Given the description of an element on the screen output the (x, y) to click on. 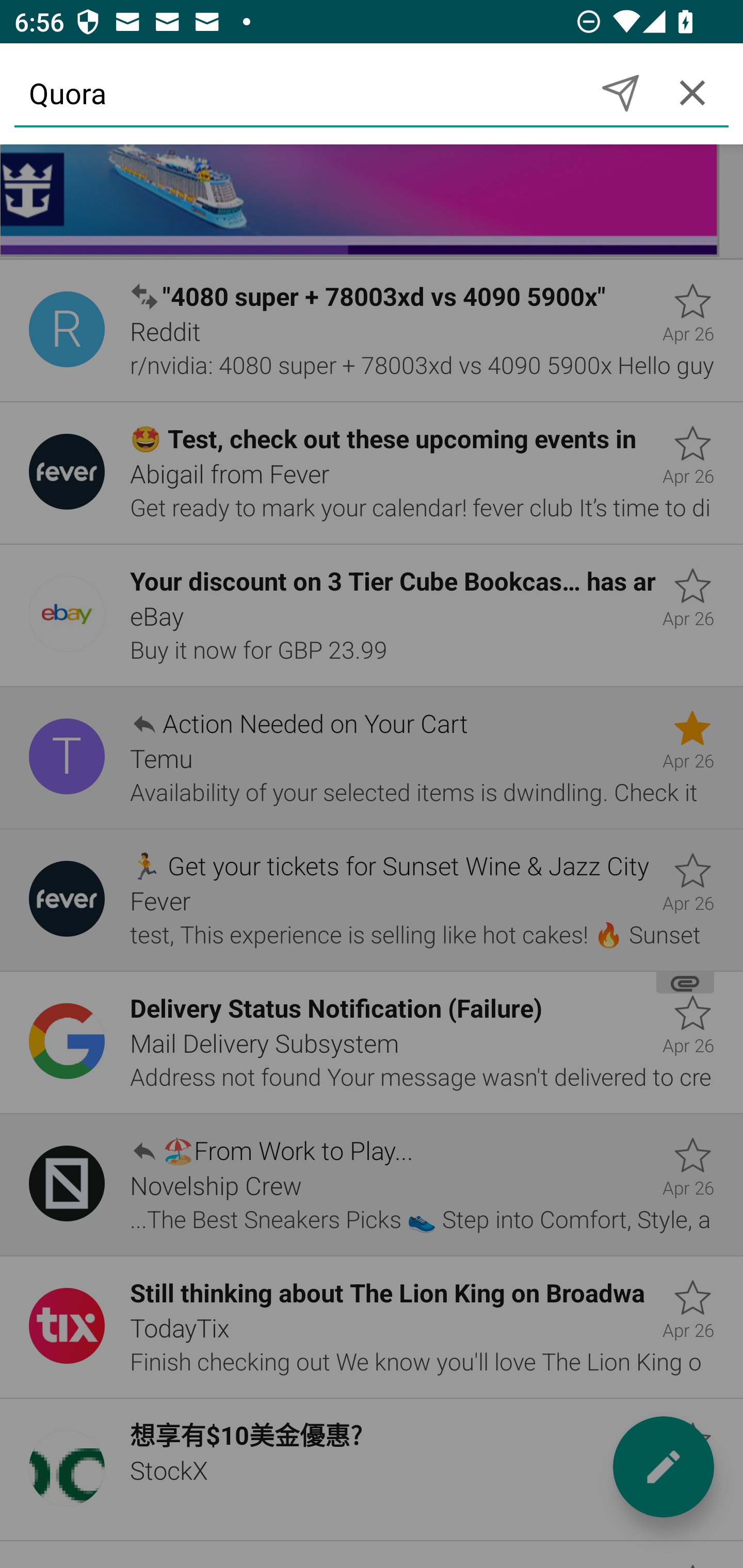
Quora (298, 92)
Search sender only (619, 92)
Cancel (692, 92)
